Given the description of an element on the screen output the (x, y) to click on. 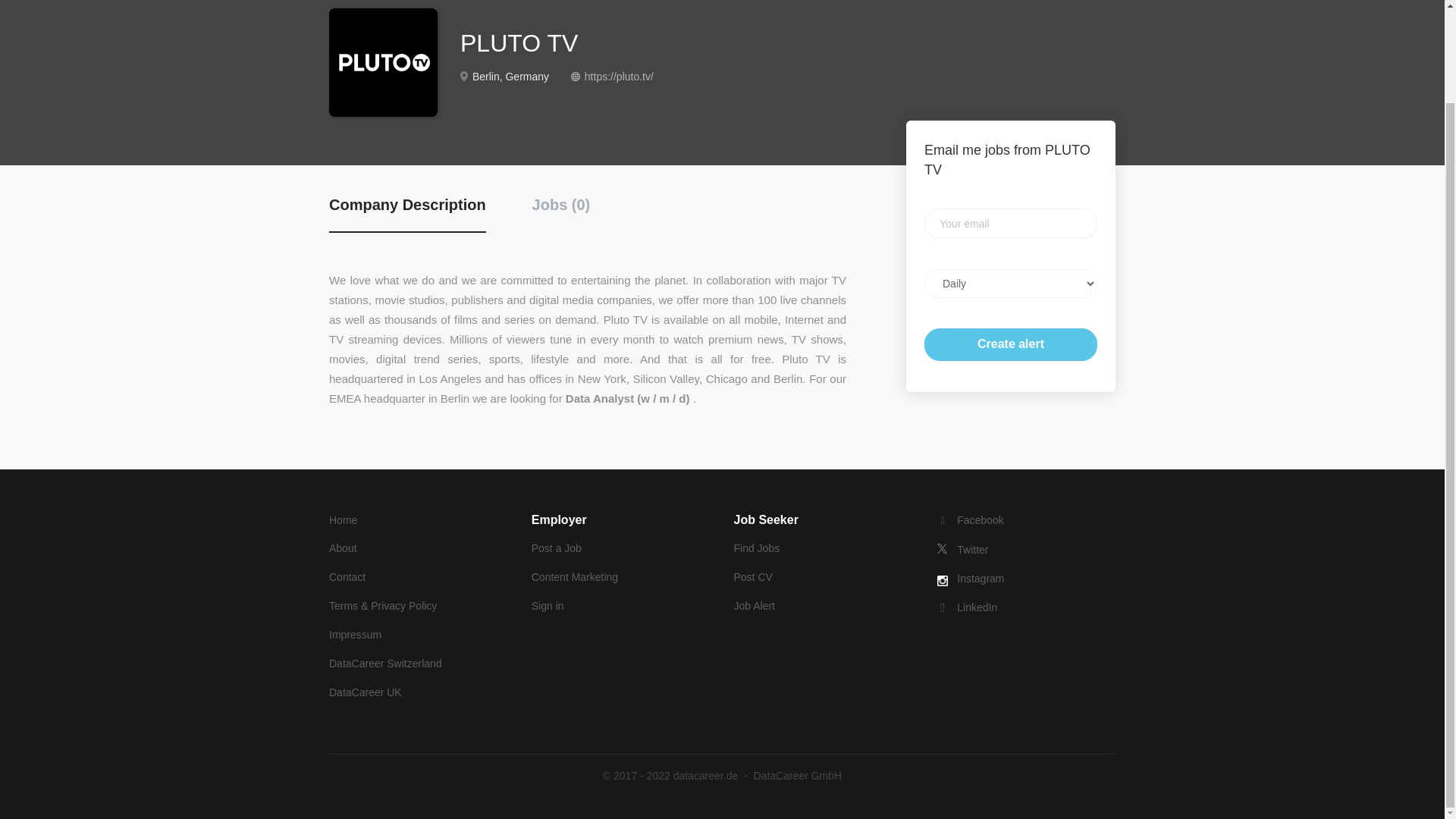
Create alert (1010, 344)
Impressum (355, 634)
About (342, 548)
DataCareer Switzerland (385, 663)
Company Description (407, 213)
Create alert (1010, 344)
DataCareer UK (365, 692)
Home (342, 520)
Contact (347, 576)
Post a Job (555, 548)
